Given the description of an element on the screen output the (x, y) to click on. 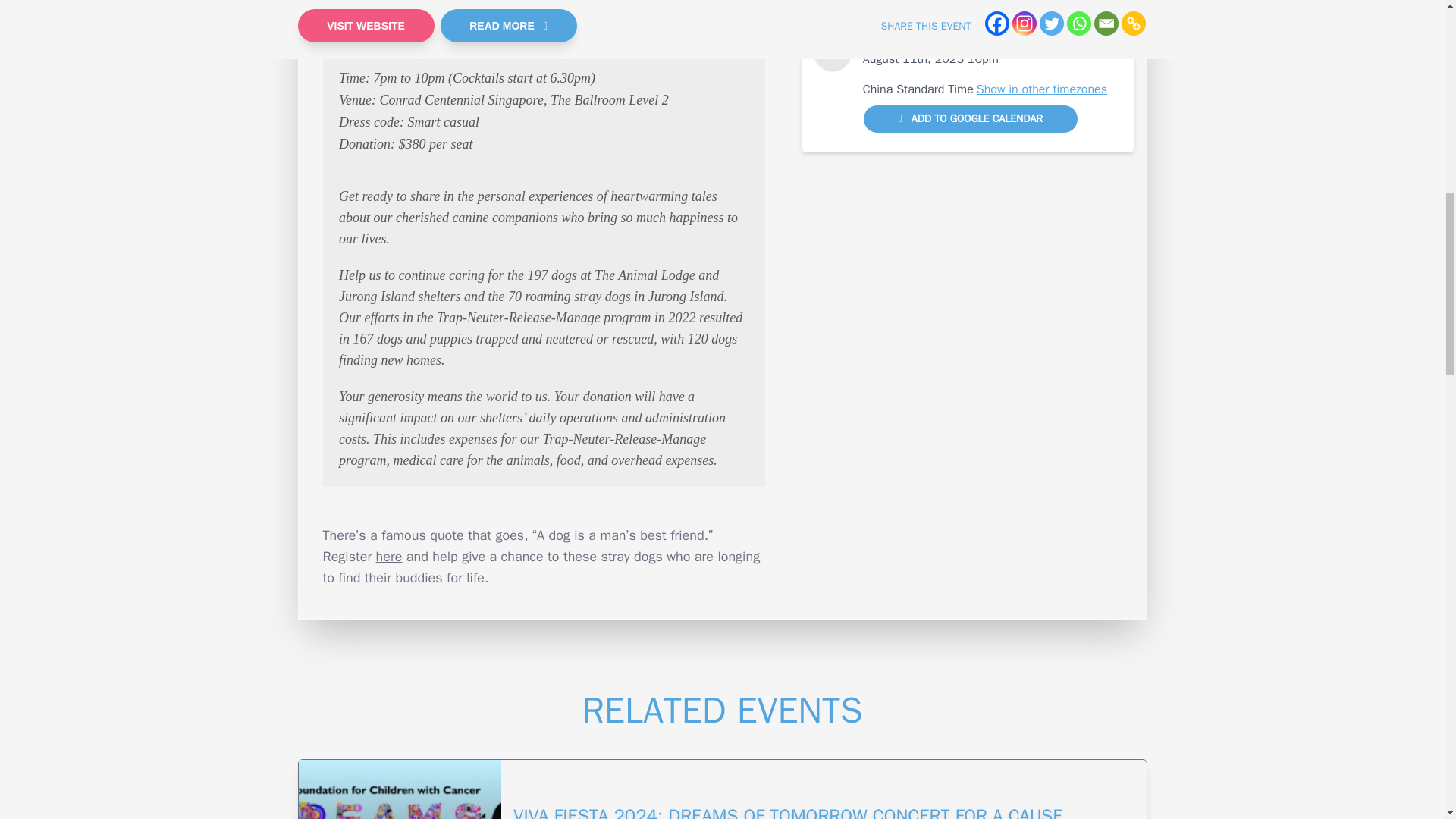
ADD TO GOOGLE CALENDAR (970, 118)
here (389, 556)
Show in other timezones (1041, 89)
VIVA FIESTA 2024: DREAMS OF TOMORROW CONCERT FOR A CAUSE (823, 799)
